Given the description of an element on the screen output the (x, y) to click on. 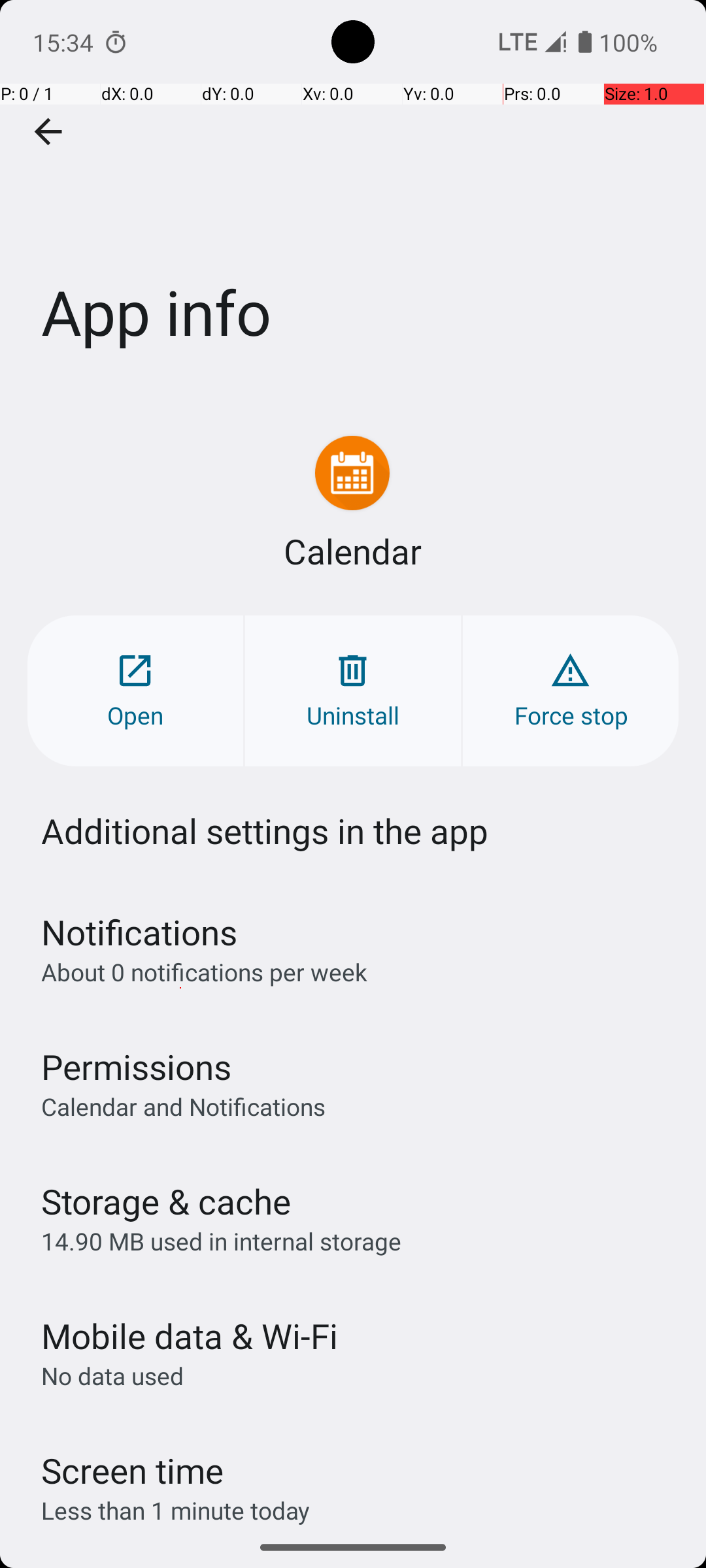
Uninstall Element type: android.widget.Button (352, 690)
Additional settings in the app Element type: android.widget.TextView (264, 830)
About 0 notifications per week Element type: android.widget.TextView (204, 971)
Calendar and Notifications Element type: android.widget.TextView (183, 1106)
14.90 MB used in internal storage Element type: android.widget.TextView (221, 1240)
Less than 1 minute today Element type: android.widget.TextView (175, 1509)
